Given the description of an element on the screen output the (x, y) to click on. 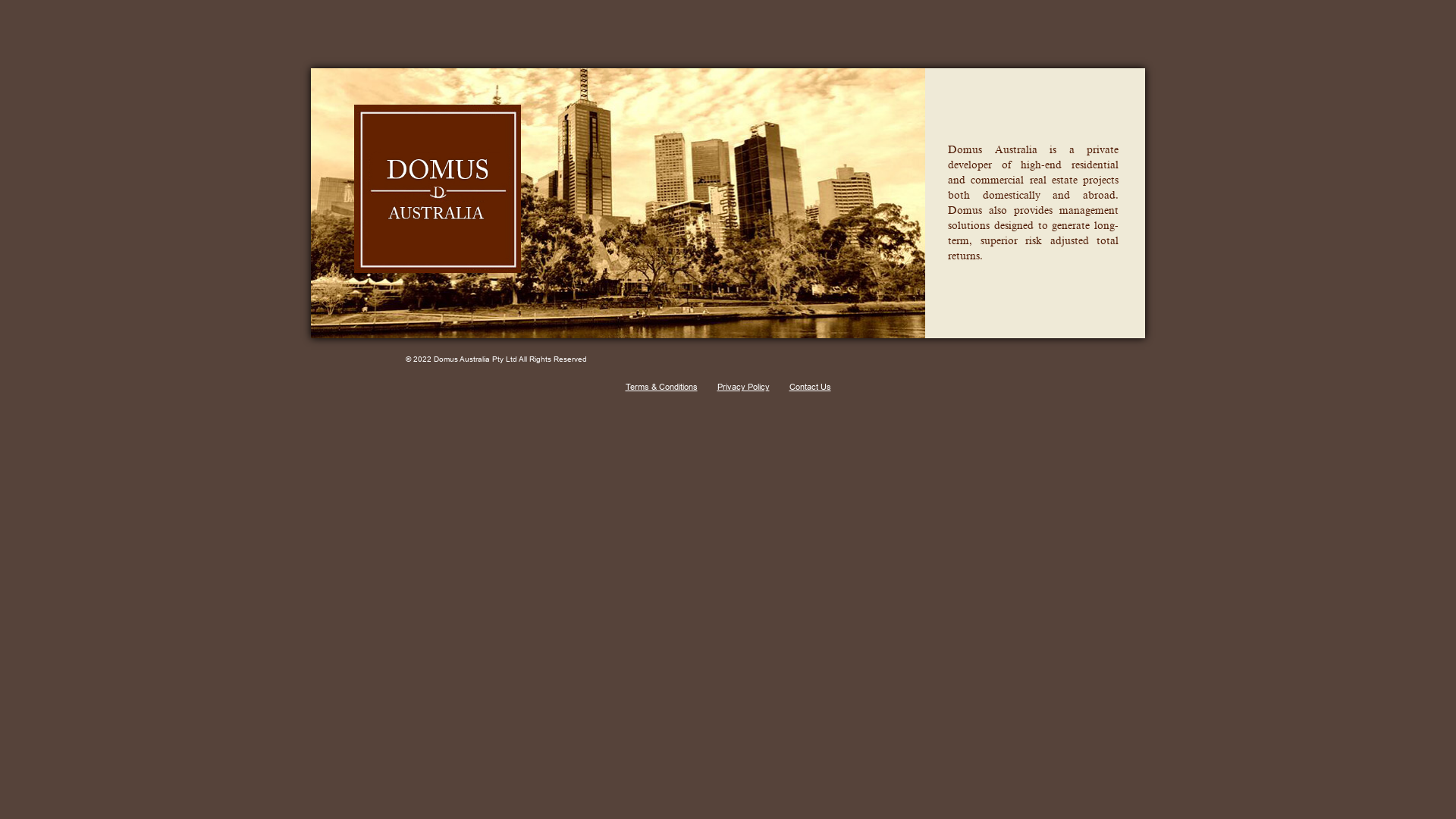
Privacy Policy Element type: text (743, 386)
Terms & Conditions Element type: text (660, 386)
Domus Australia Element type: text (398, 281)
Contact Us Element type: text (809, 386)
